Given the description of an element on the screen output the (x, y) to click on. 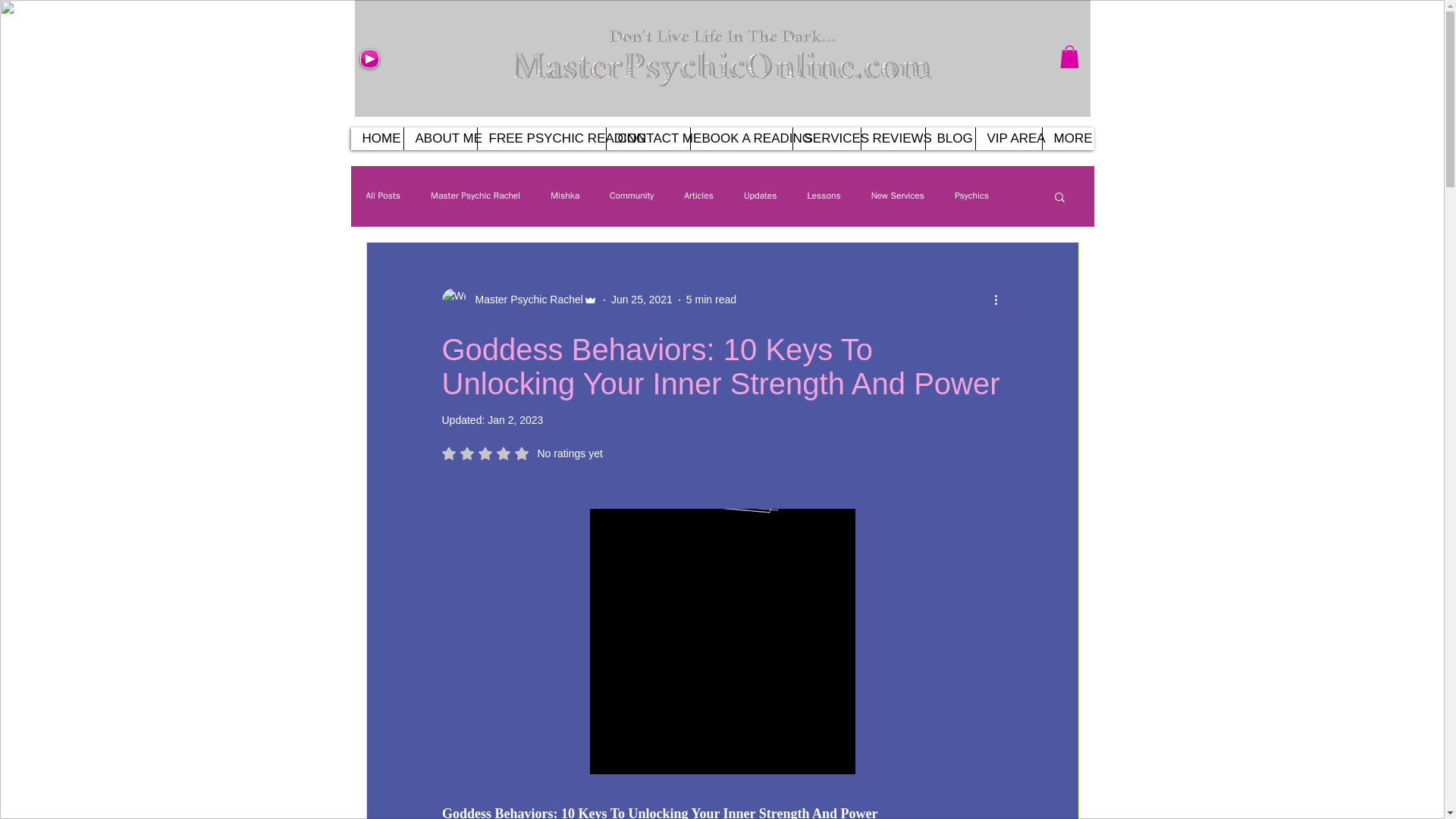
BLOG (949, 138)
Mishka (564, 195)
BOOK A READING (741, 138)
VIP AREA (1008, 138)
Jan 2, 2023 (515, 419)
REVIEWS (892, 138)
Lessons (824, 195)
SERVICES (826, 138)
Psychics (971, 195)
All Posts (382, 195)
HOME (376, 138)
Master Psychic Rachel (474, 195)
Updates (760, 195)
New Services (897, 195)
Community (631, 195)
